Given the description of an element on the screen output the (x, y) to click on. 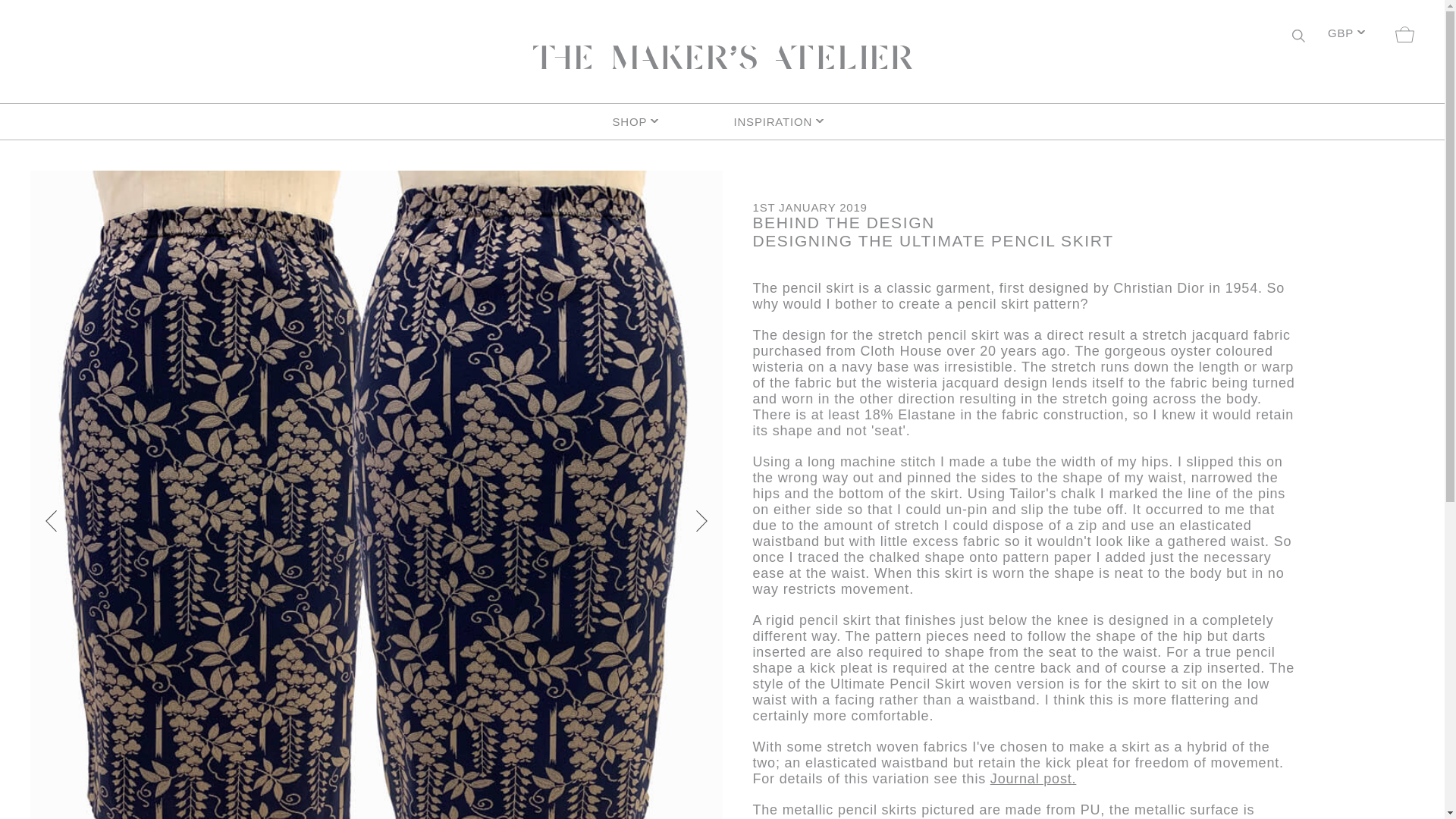
INSPIRATION (782, 121)
GBP (1345, 34)
Journal post (1030, 778)
SHOP (660, 121)
